Given the description of an element on the screen output the (x, y) to click on. 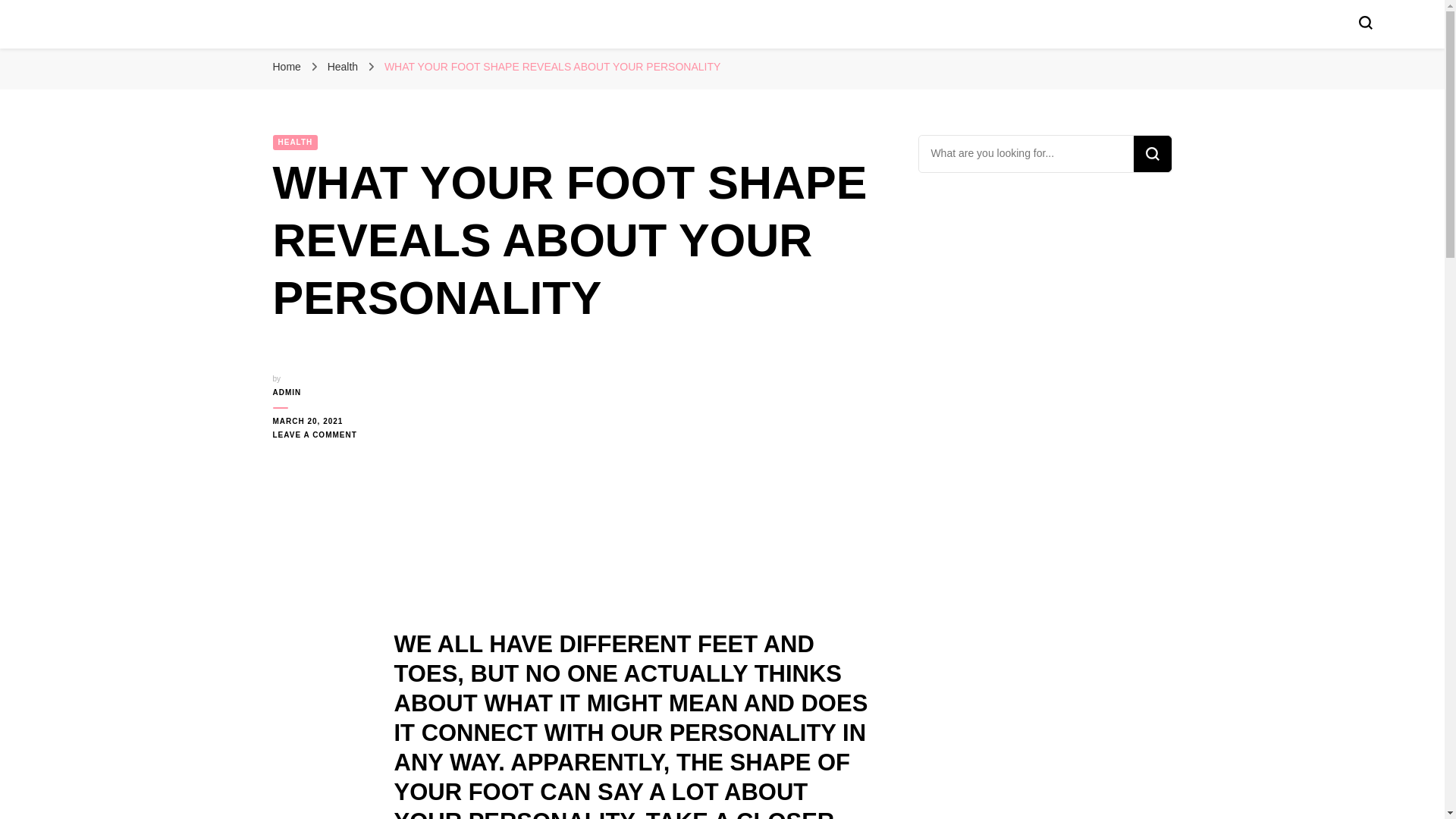
MARCH 20, 2021 (322, 421)
Home (287, 66)
Health (344, 66)
WHAT YOUR FOOT SHAPE REVEALS ABOUT YOUR PERSONALITY (552, 66)
ADMIN (322, 392)
Search (1151, 153)
Search (1151, 153)
HEALTH (295, 142)
Search (1151, 153)
